Given the description of an element on the screen output the (x, y) to click on. 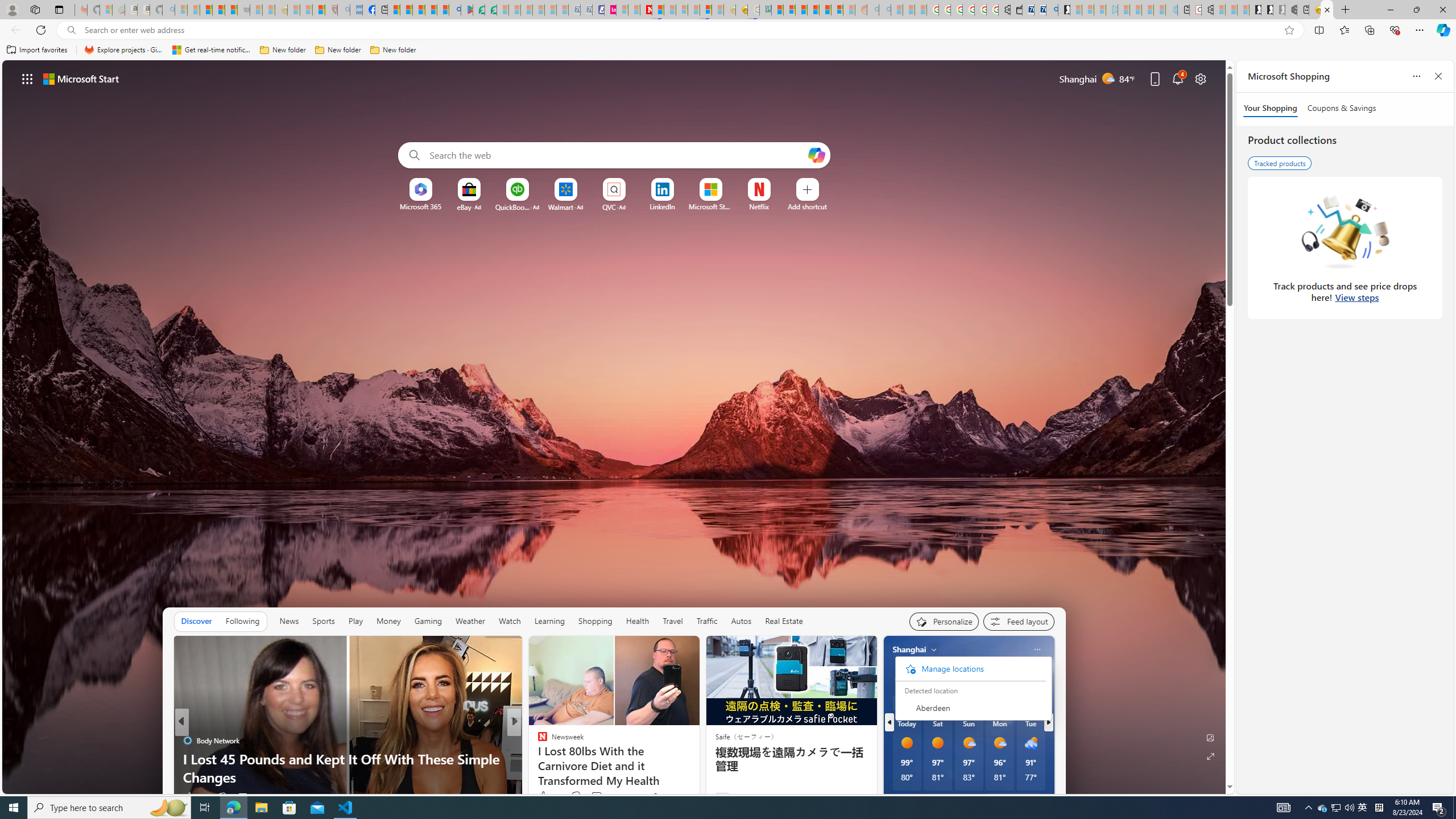
AutomationID: backgroundImagePicture (613, 426)
Aberdeen (969, 707)
Expert Portfolios (813, 9)
Nordace - Nordace Siena Is Not An Ordinary Backpack (1290, 9)
Class: footer-menu (970, 668)
